Given the description of an element on the screen output the (x, y) to click on. 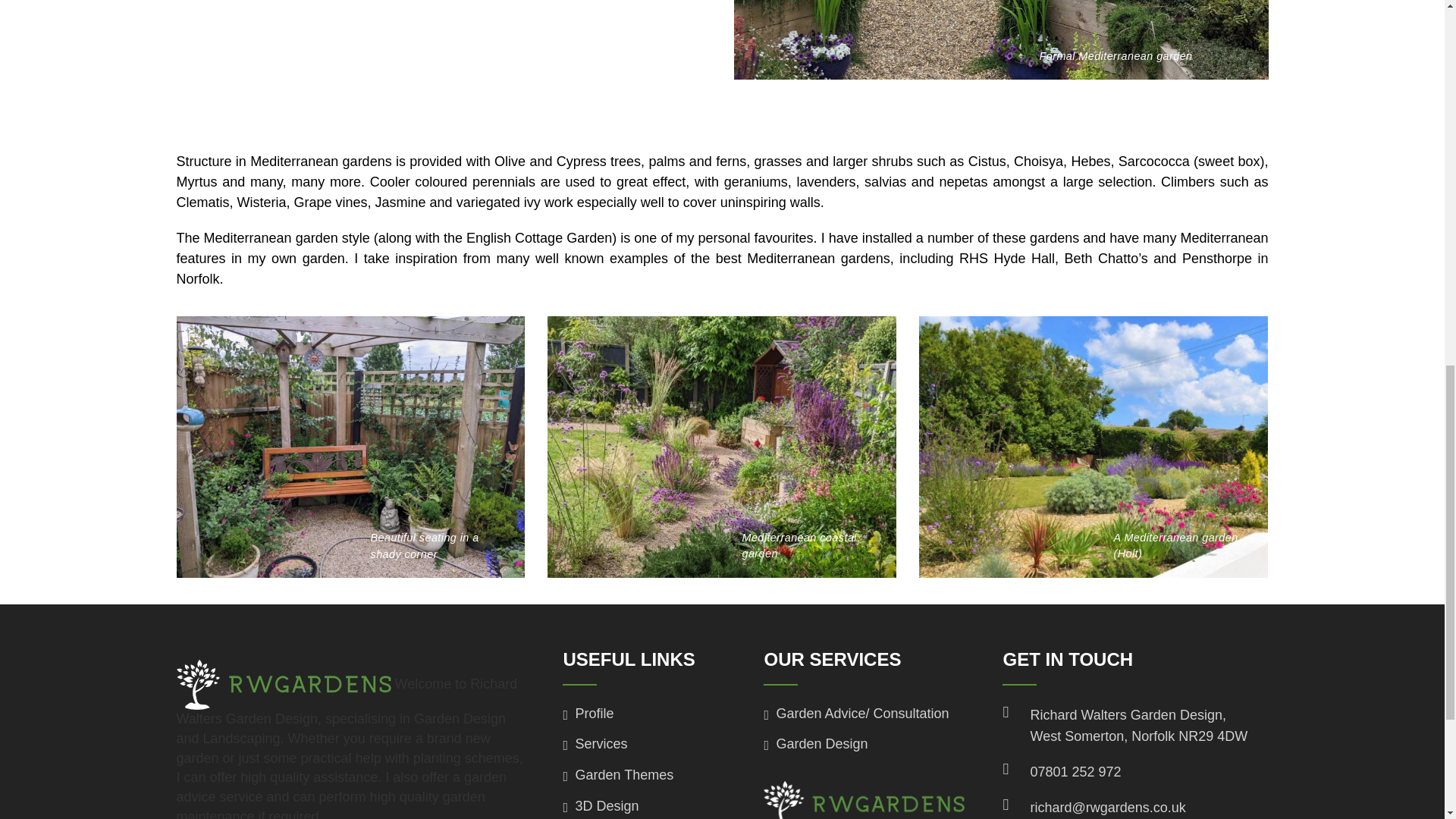
Formal Mediterranean Garden (1000, 39)
Mediterranean coastal garden (721, 447)
View from patio (1093, 447)
Garden Themes (619, 775)
Services (597, 744)
Profile (589, 713)
3D Design (603, 806)
